Given the description of an element on the screen output the (x, y) to click on. 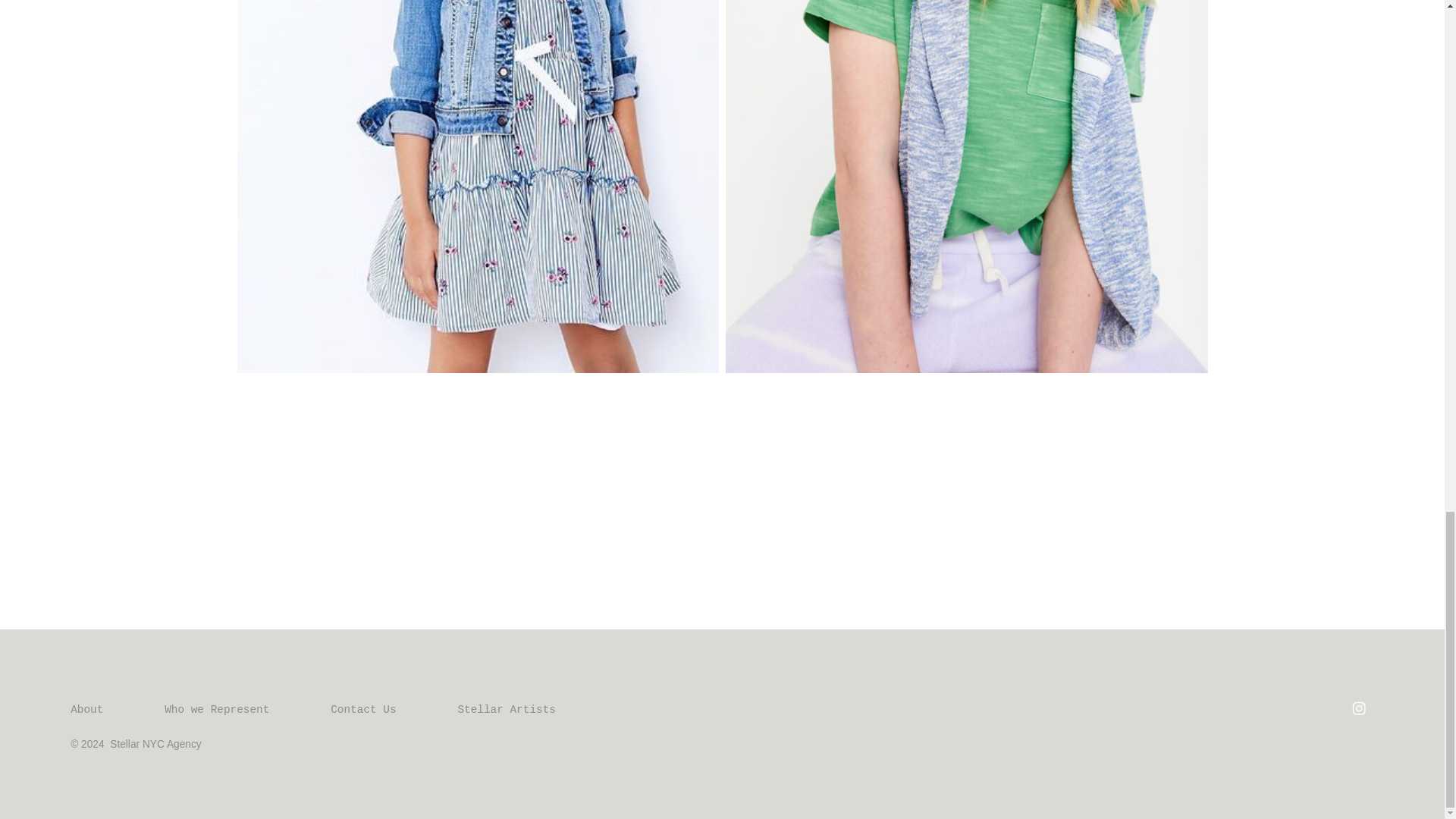
Open Instagram in a new tab (1358, 707)
About (100, 709)
Who we Represent (216, 709)
Stellar Artists (506, 709)
Contact Us (363, 709)
